Given the description of an element on the screen output the (x, y) to click on. 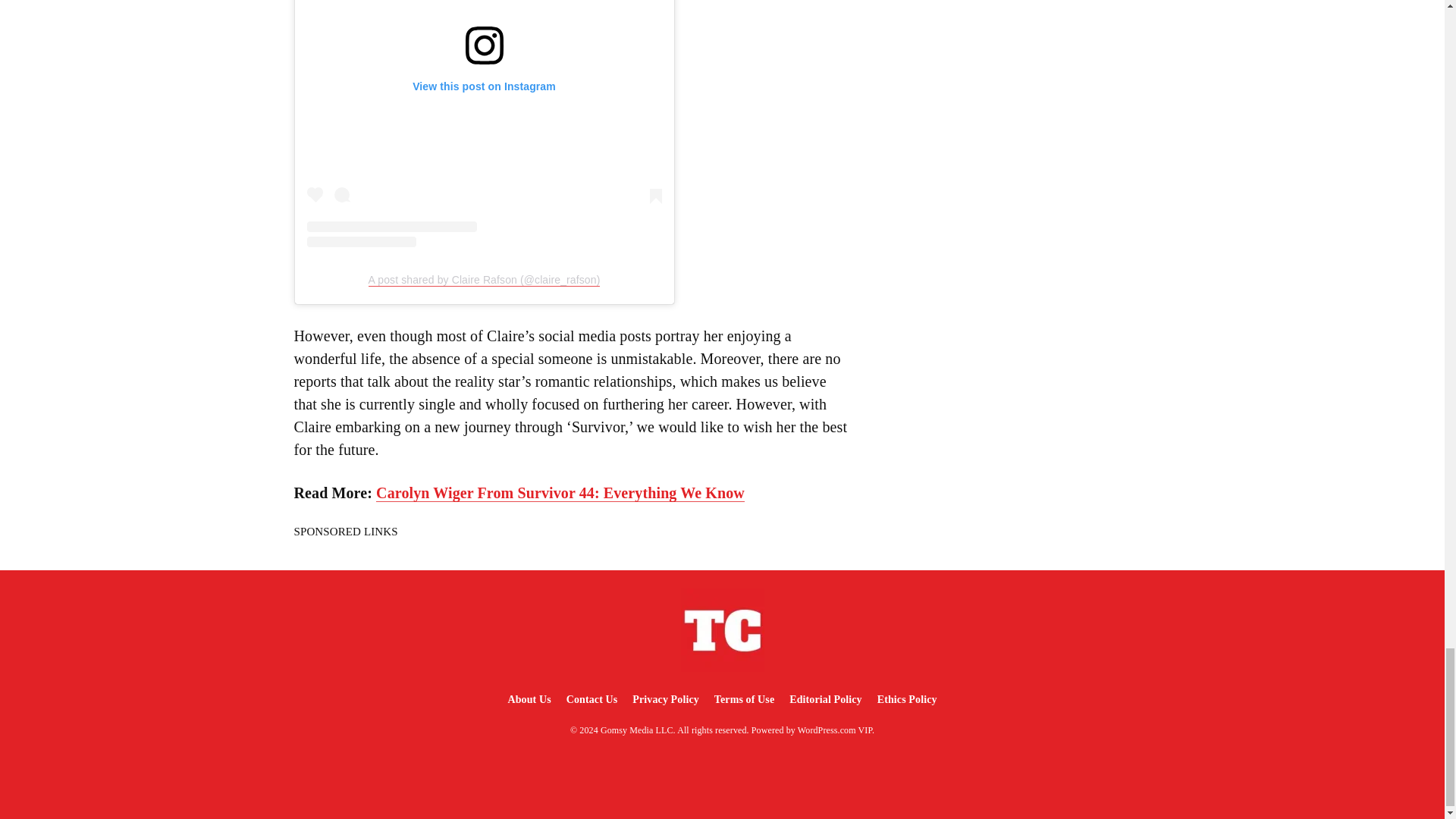
Terms of Use (743, 699)
Ethics Policy (906, 699)
Carolyn Wiger From Survivor 44: Everything We Know (559, 493)
Editorial Policy (825, 699)
Contact Us (592, 699)
About Us (528, 699)
View this post on Instagram (483, 123)
Privacy Policy (665, 699)
WordPress.com VIP (834, 729)
